Given the description of an element on the screen output the (x, y) to click on. 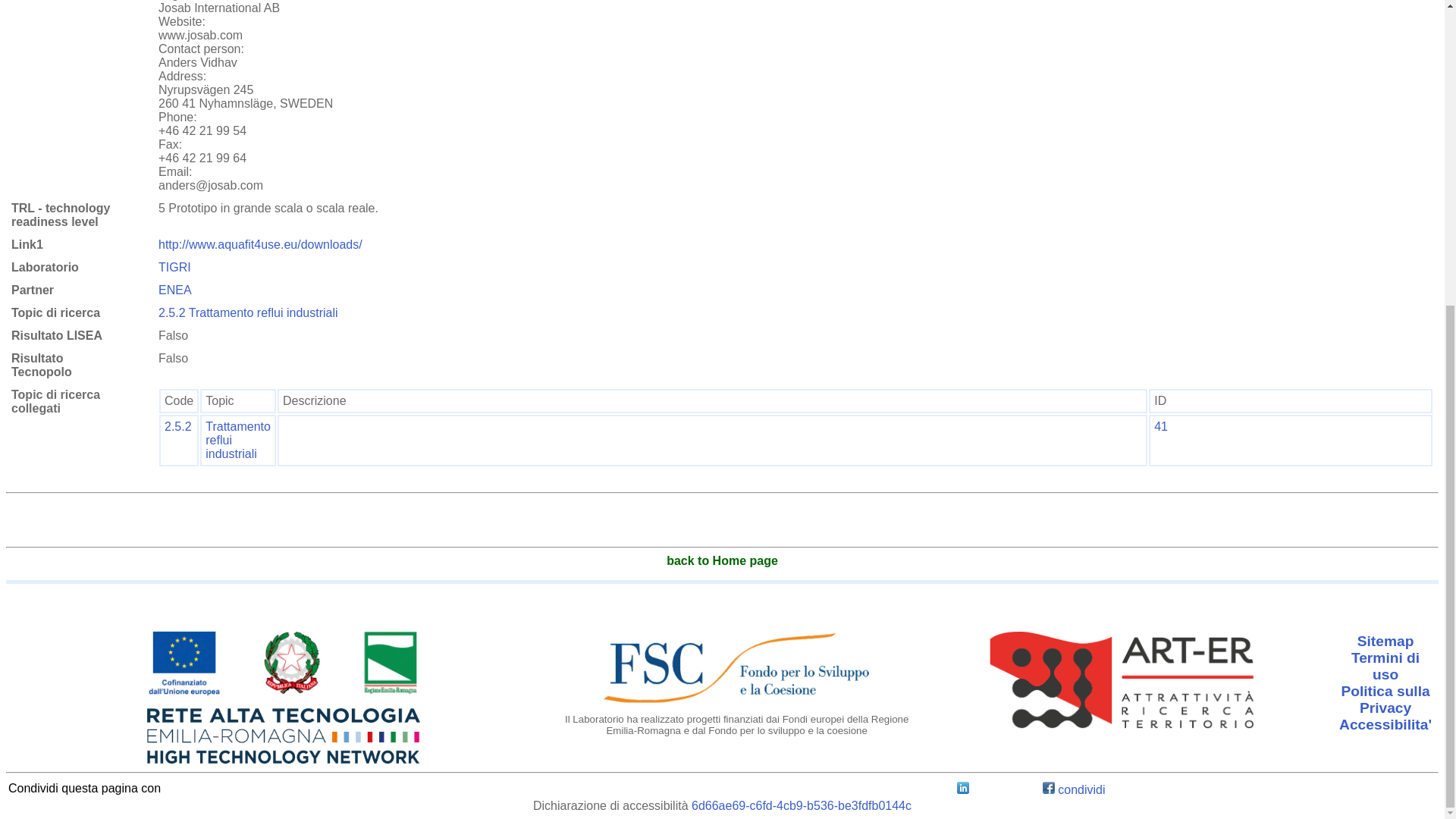
Trattamento reflui industriali (237, 440)
Click per ZOOM della riga (1160, 426)
TIGRI (174, 267)
Termini di uso (1385, 666)
2.5.2 (178, 426)
ENEA (175, 289)
Link to 'Politica sulla Privacy'  (1384, 699)
Link to 'Accessibilita''  (1385, 725)
condividi (1073, 789)
6d66ae69-c6fd-4cb9-b536-be3fdfb0144c (801, 805)
